Given the description of an element on the screen output the (x, y) to click on. 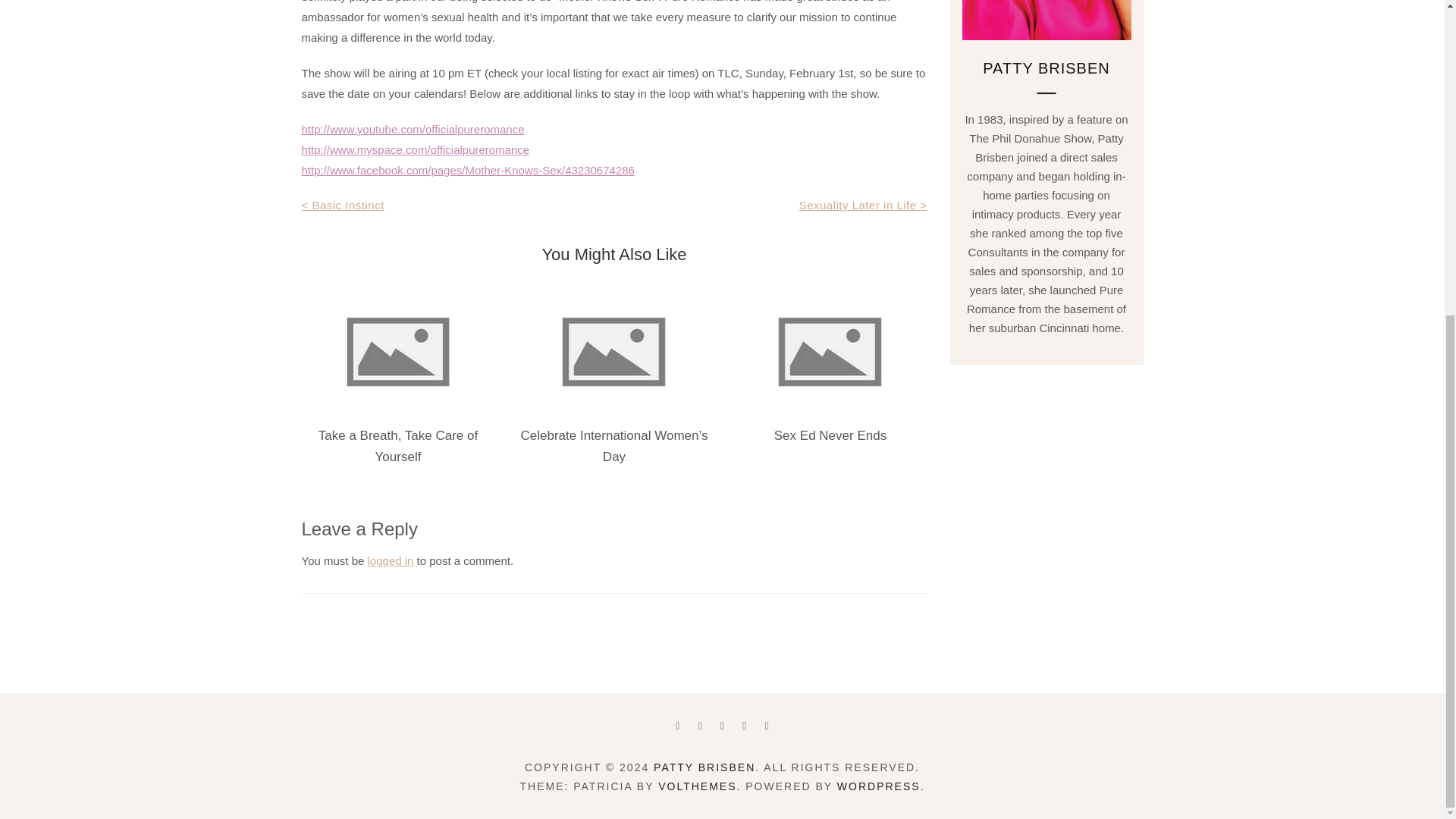
WordPress (878, 786)
Take a Breath, Take Care of Yourself (397, 446)
Patty Brisben (704, 767)
Sex Ed Never Ends (830, 435)
VolThemes (697, 786)
logged in (390, 560)
PATTY BRISBEN (704, 767)
